Given the description of an element on the screen output the (x, y) to click on. 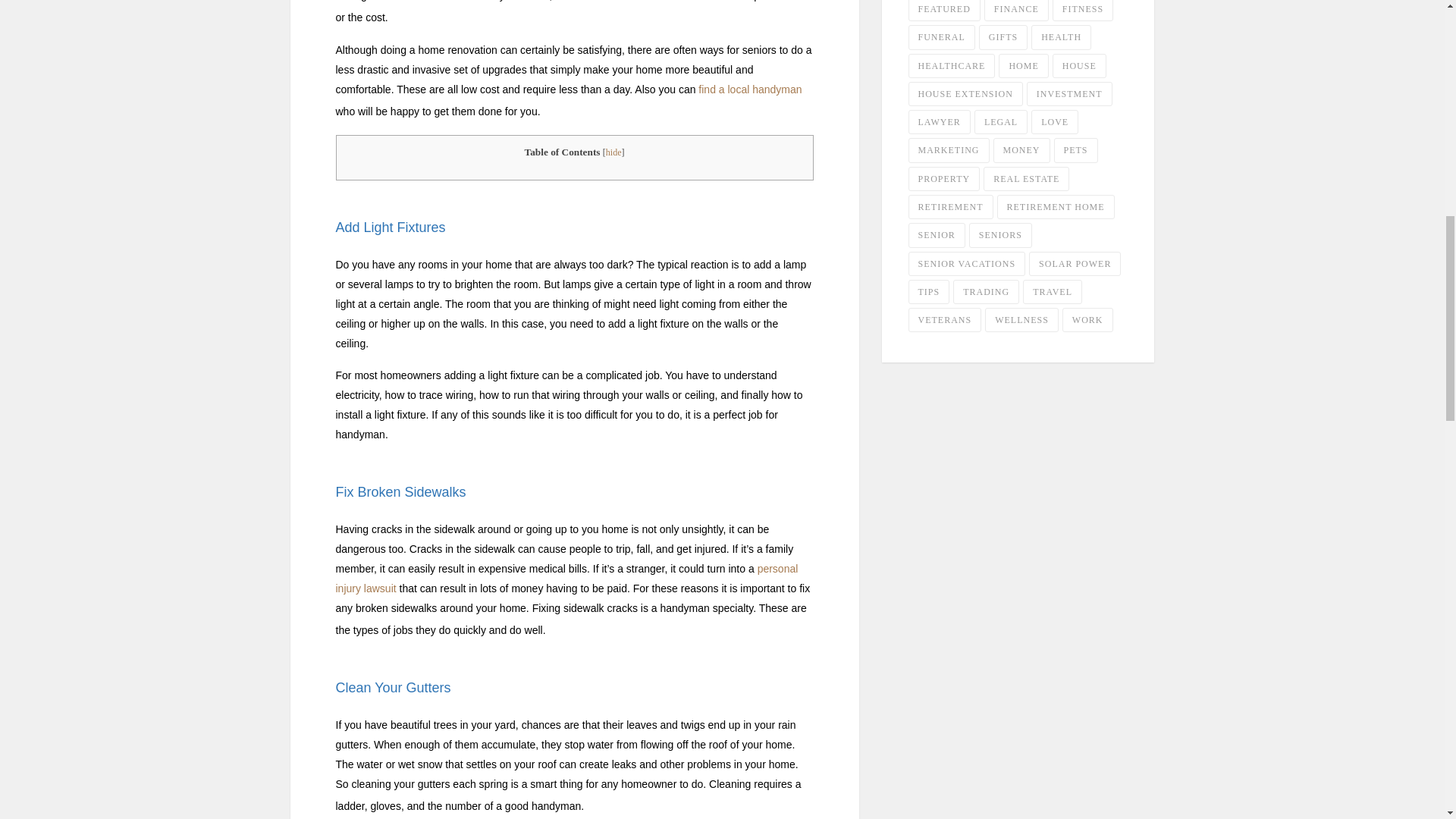
find a local handyman (750, 89)
hide (613, 152)
personal injury lawsuit (565, 578)
